Given the description of an element on the screen output the (x, y) to click on. 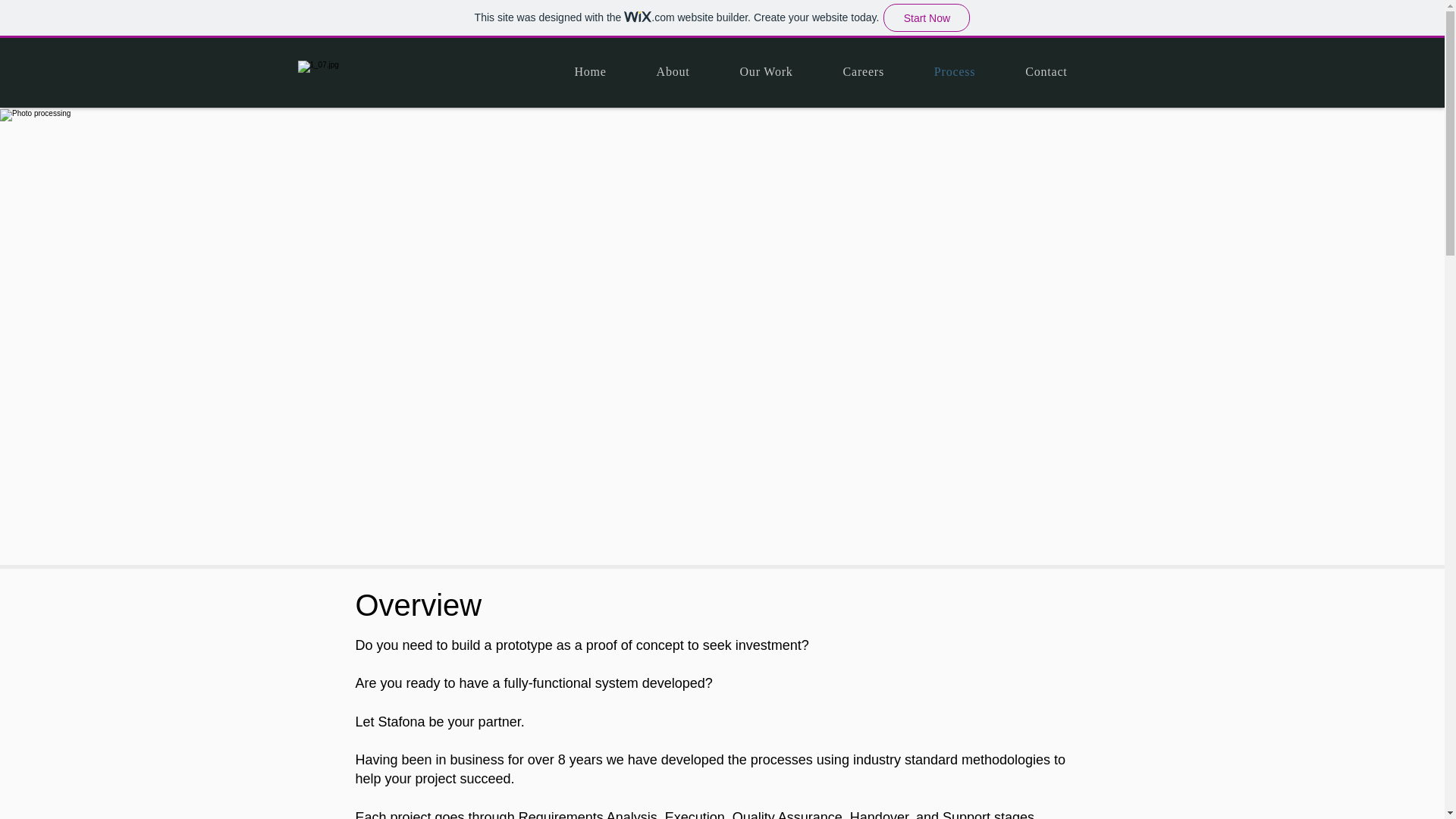
Home (589, 71)
Careers (863, 71)
Our Work (766, 71)
About (672, 71)
Contact (1046, 71)
Process (954, 71)
